Given the description of an element on the screen output the (x, y) to click on. 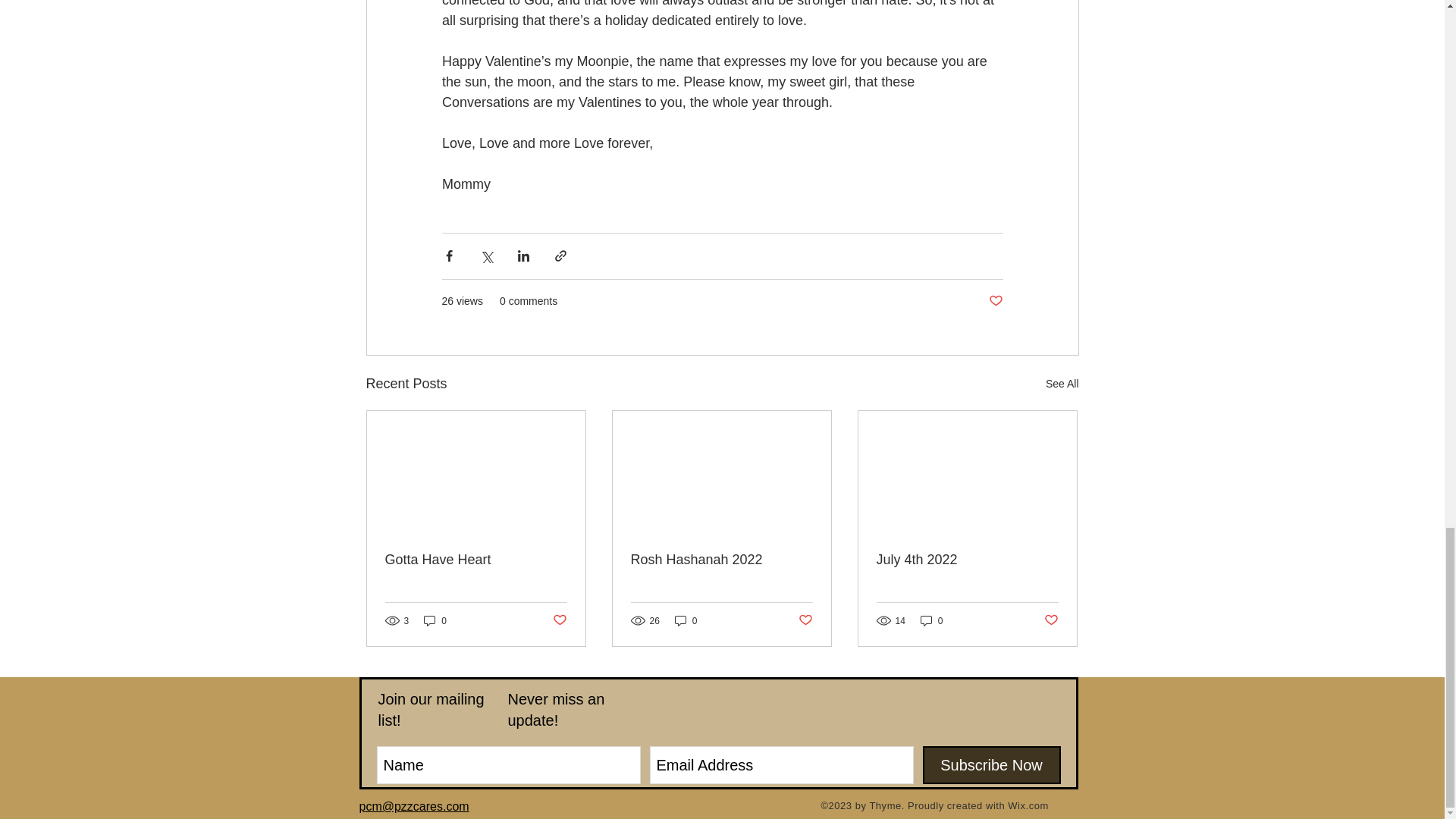
Post not marked as liked (1050, 620)
Wix.com (1027, 805)
Post not marked as liked (995, 301)
0 (435, 620)
See All (1061, 383)
Post not marked as liked (804, 620)
0 (931, 620)
0 (685, 620)
July 4th 2022 (967, 560)
Gotta Have Heart (476, 560)
Rosh Hashanah 2022 (721, 560)
Subscribe Now (990, 764)
Post not marked as liked (558, 620)
